Given the description of an element on the screen output the (x, y) to click on. 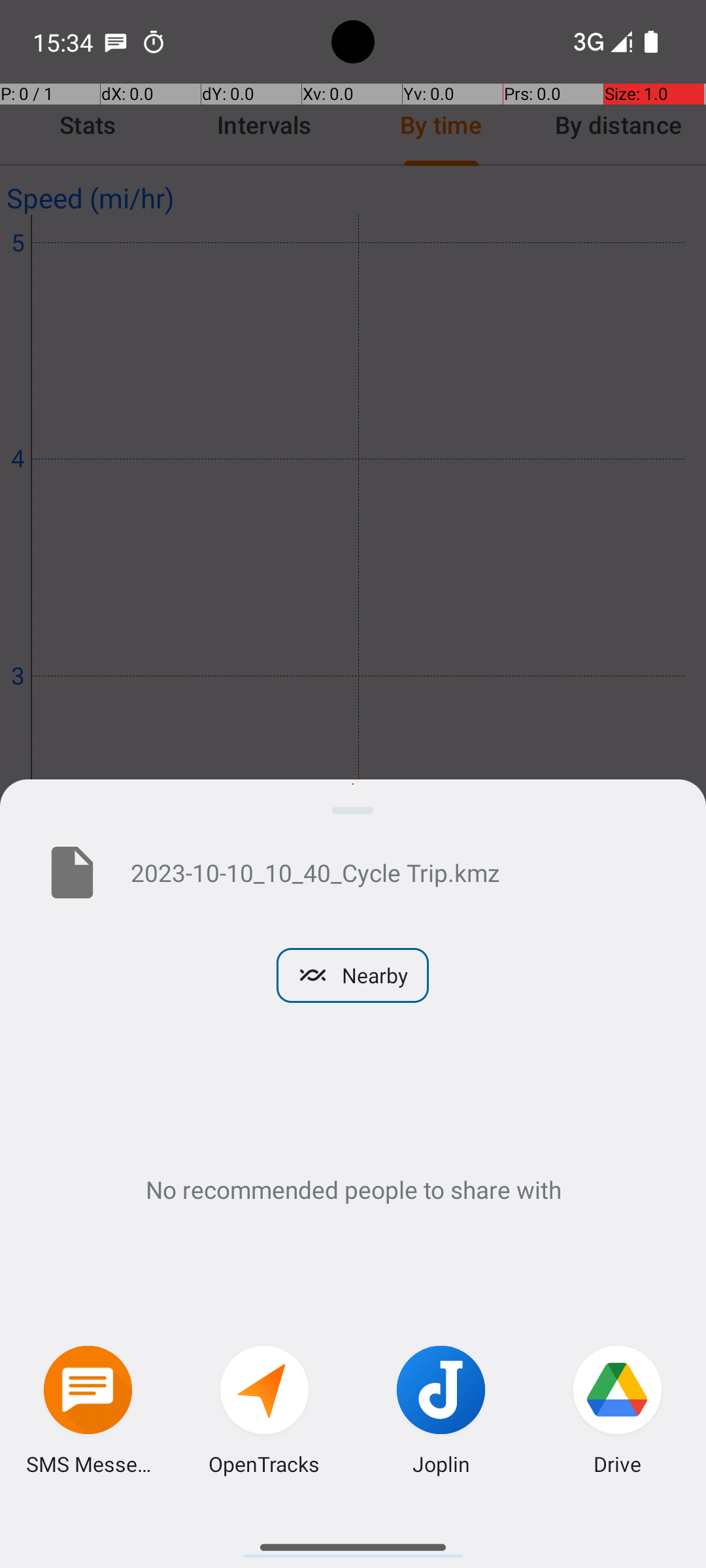
2023-10-10_10_40_Cycle Trip.kmz Element type: android.widget.TextView (397, 872)
